Given the description of an element on the screen output the (x, y) to click on. 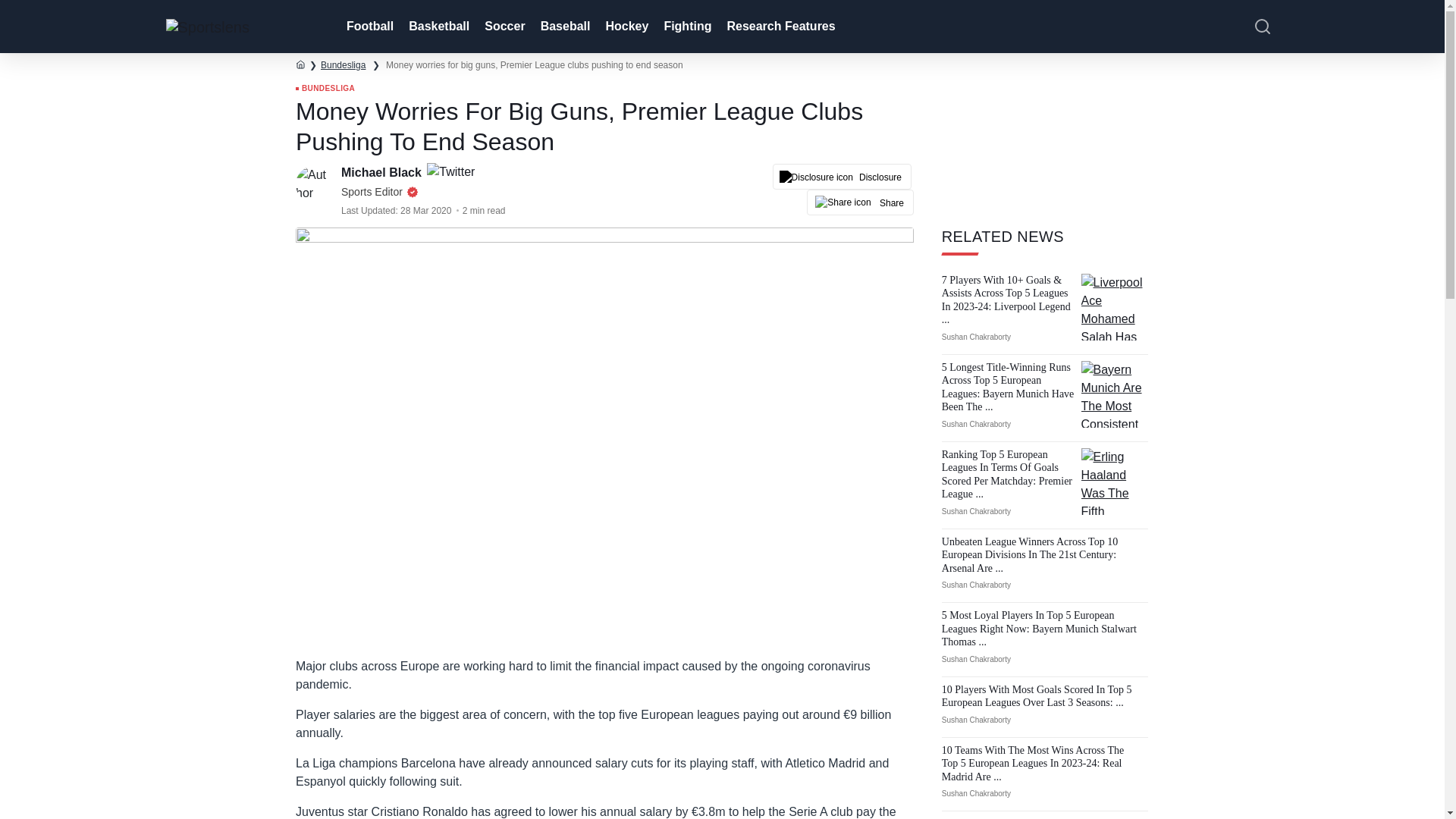
Basketball (437, 26)
Baseball (563, 26)
Michael Black (382, 172)
Share (860, 202)
Football (367, 26)
Sushan Chakraborty (976, 424)
Fighting (685, 26)
Sushan Chakraborty (976, 336)
Research Features (779, 26)
